Given the description of an element on the screen output the (x, y) to click on. 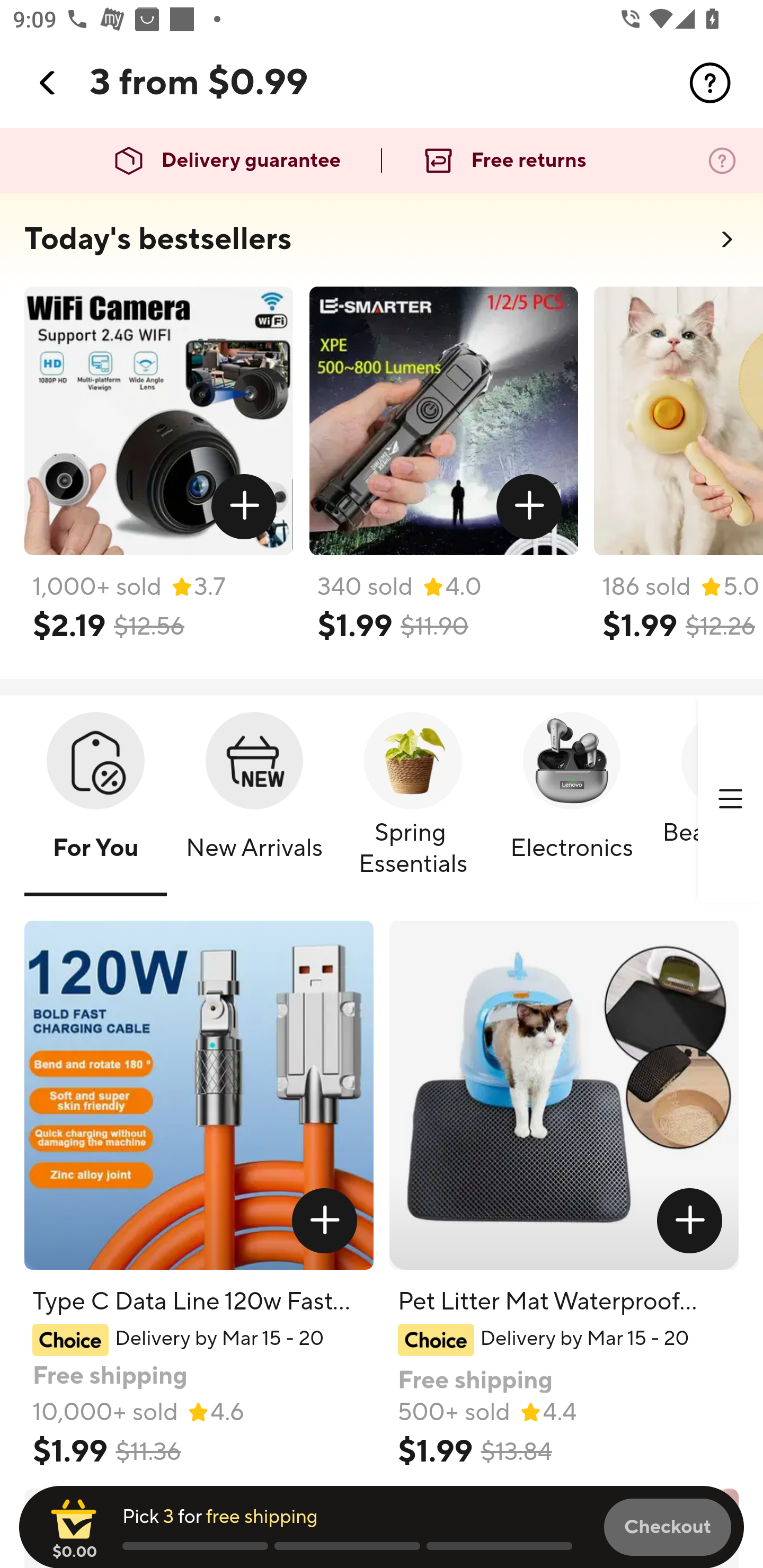
 (710, 82)
 (48, 82)
Today's bestsellers  Today's bestsellers  (381, 244)
Today's bestsellers (157, 239)
 (244, 506)
 (529, 506)
 (730, 799)
144x144.png_ For You (95, 800)
144x144.png_ New Arrivals (254, 800)
200x200.png_ Spring Essentials (412, 800)
300x300.png_ Electronics (571, 800)
 (323, 1220)
 (689, 1220)
